Given the description of an element on the screen output the (x, y) to click on. 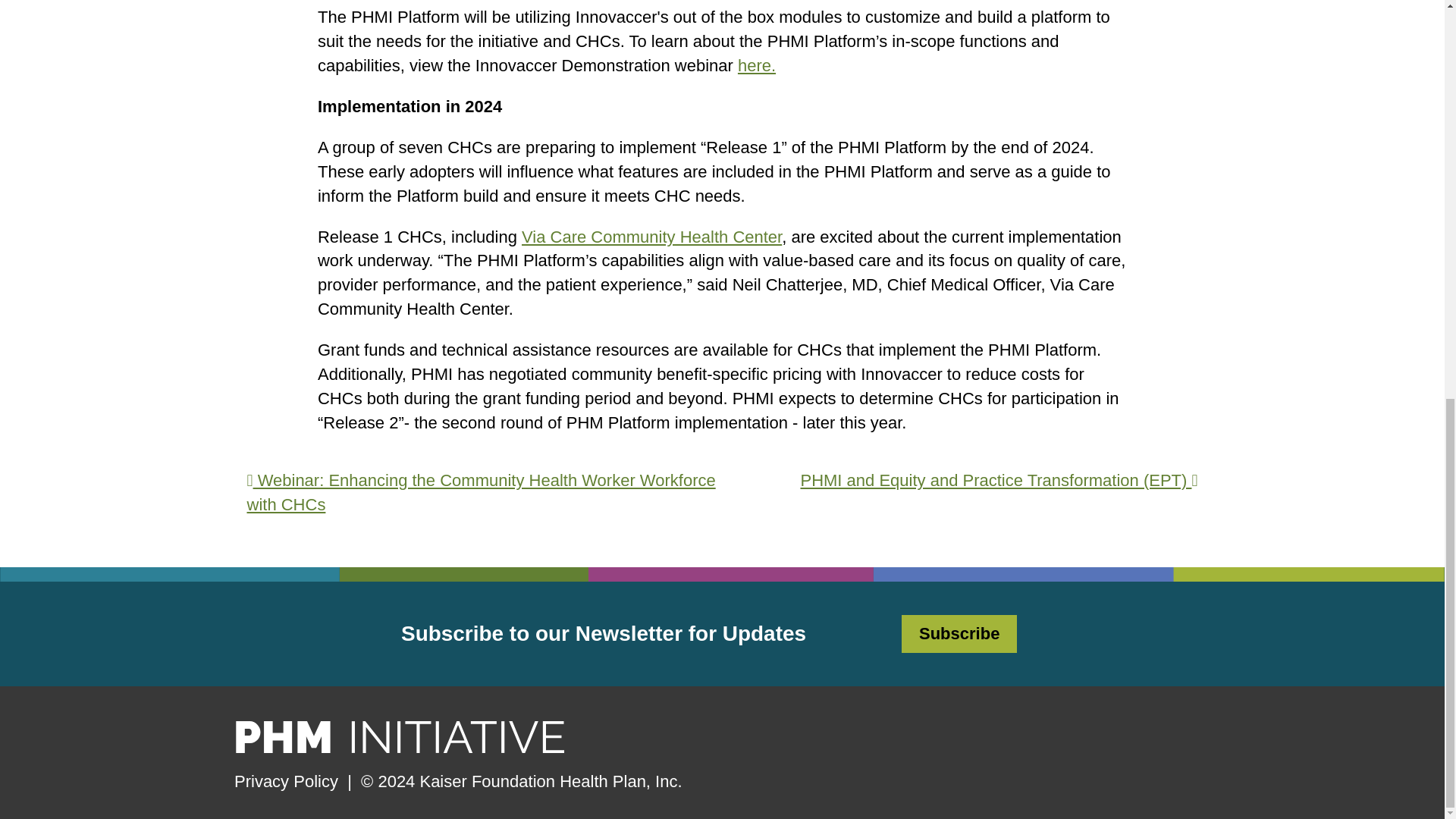
Privacy Policy (285, 781)
Subscribe (958, 632)
Via Care Community Health Center (651, 236)
here. (757, 65)
